Given the description of an element on the screen output the (x, y) to click on. 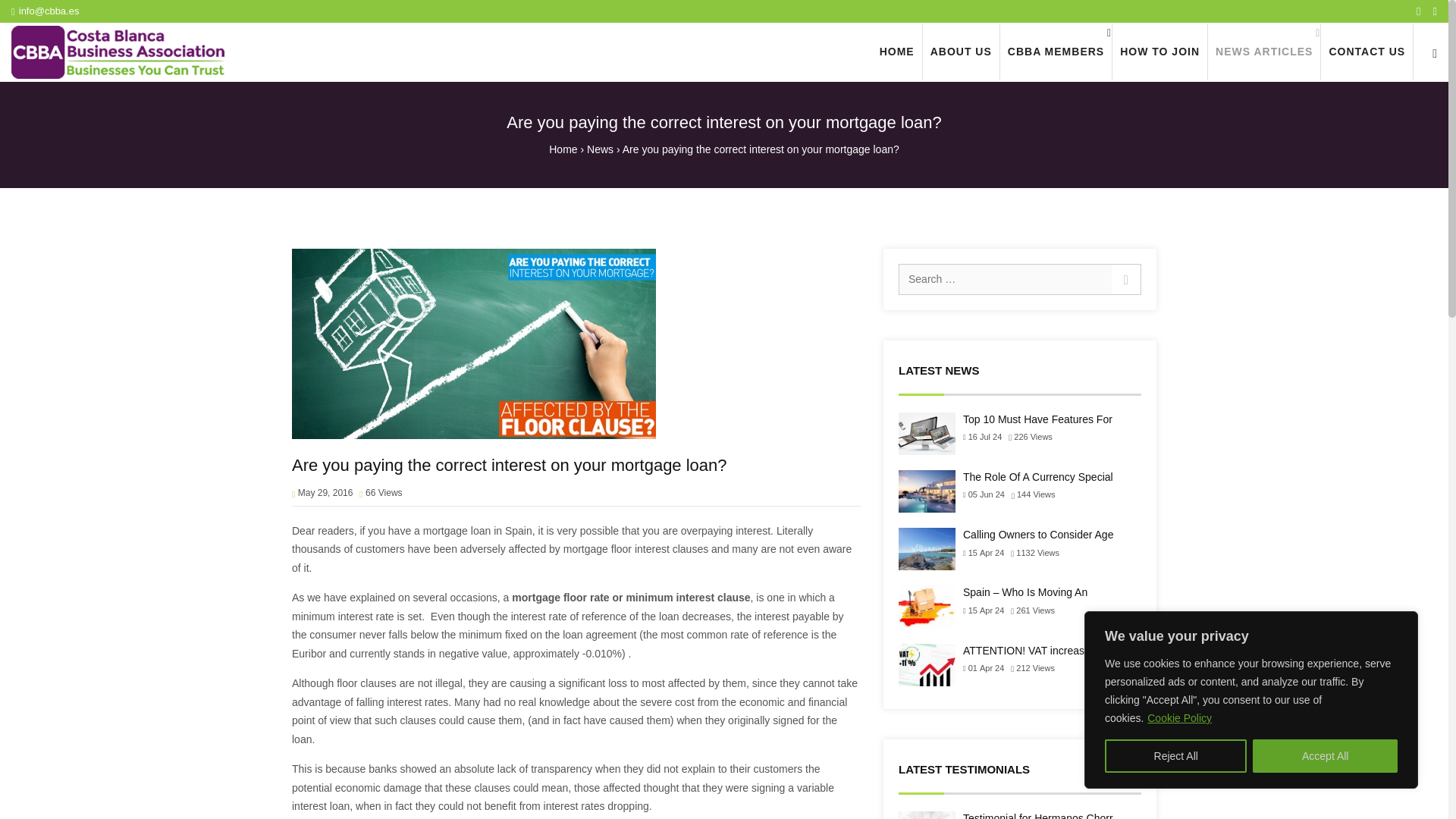
NEWS ARTICLES (1264, 51)
CBBA MEMBERS (1056, 51)
HOW TO JOIN (1159, 51)
Costa Blanca Business Association (120, 51)
ABOUT US (960, 51)
Cookie Policy (1179, 717)
HOME (896, 51)
Reject All (1175, 756)
CONTACT US (1366, 51)
Accept All (1324, 756)
